Given the description of an element on the screen output the (x, y) to click on. 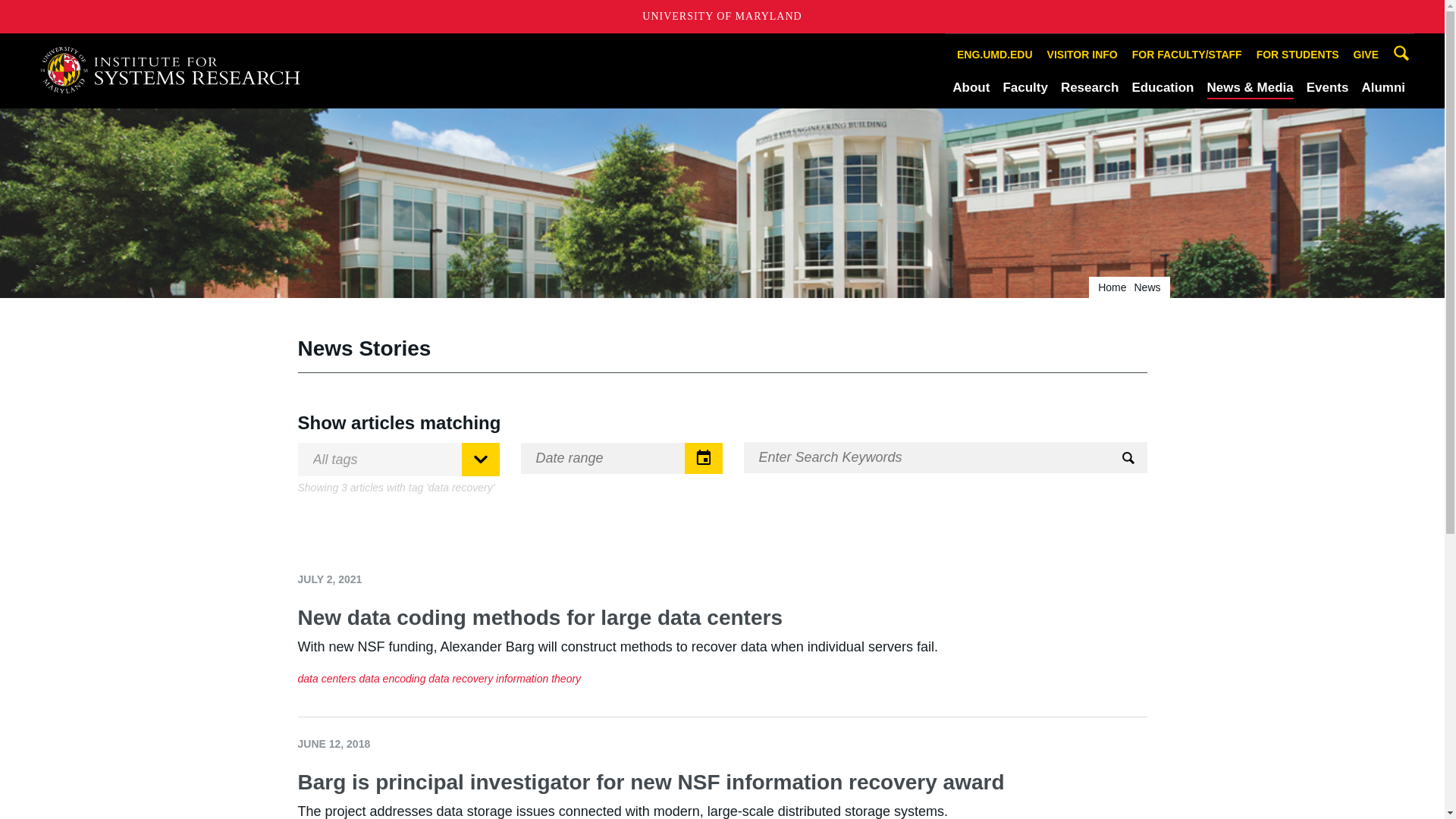
UNIVERSITY OF MARYLAND (722, 16)
FOR STUDENTS (1296, 54)
VISITOR INFO (1082, 54)
About (971, 87)
ENG.UMD.EDU (995, 54)
About (971, 87)
GIVE (1366, 54)
Faculty (1024, 87)
A. James Clark School of Engineering, University of Maryland (175, 69)
